Given the description of an element on the screen output the (x, y) to click on. 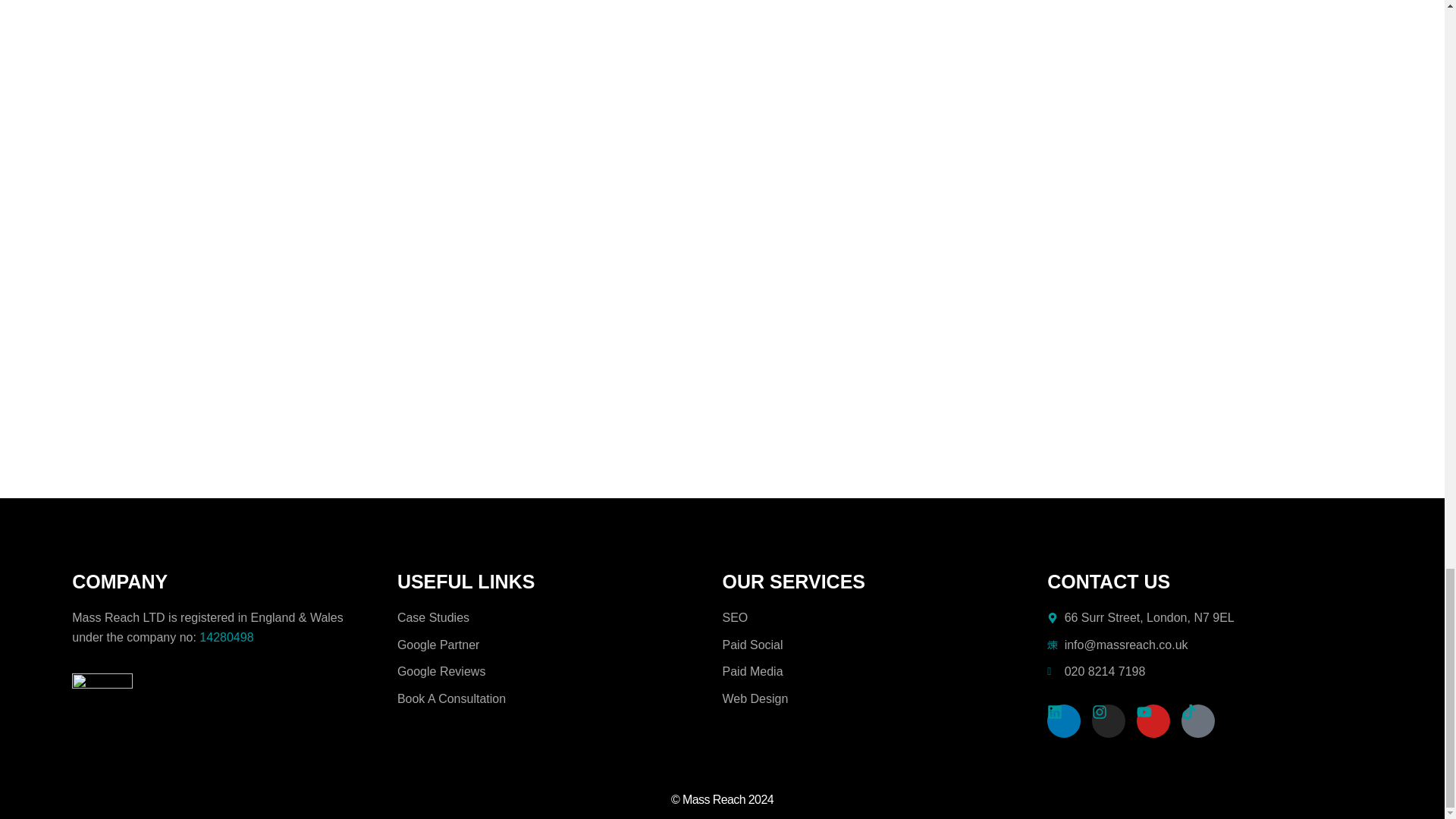
Paid Social (884, 645)
Google Reviews (559, 671)
Case Studies (559, 618)
66 Surr Street, London, N7 9EL (1209, 618)
Book A Consultation (559, 699)
020 8214 7198 (1209, 671)
Google Partner (559, 645)
Web Design (884, 699)
SEO (884, 618)
14280498 (226, 636)
Paid Media (884, 671)
